Given the description of an element on the screen output the (x, y) to click on. 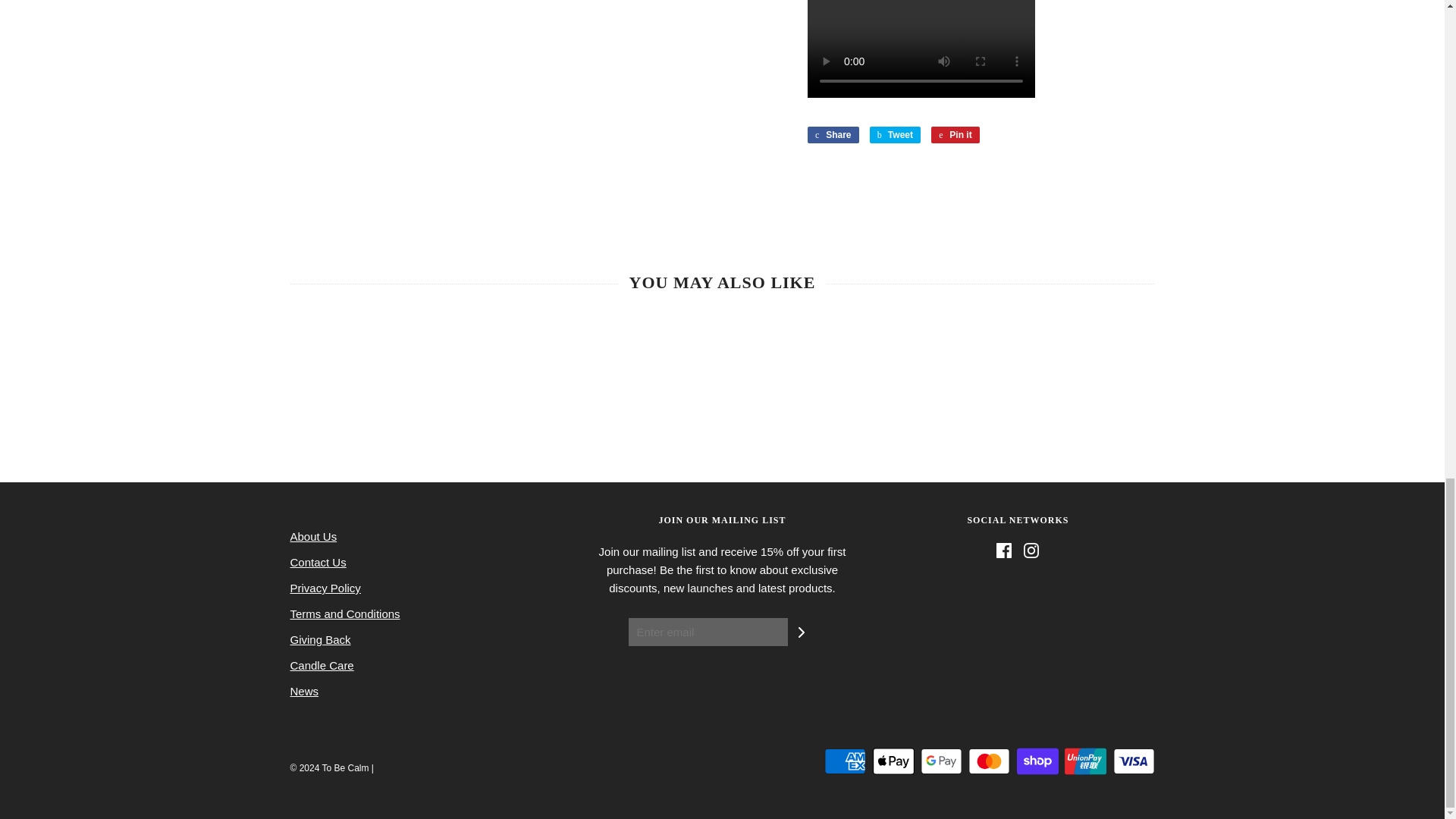
Union Pay (1085, 761)
Facebook icon (1003, 549)
Shop Pay (1037, 761)
Instagram icon (1031, 549)
Google Pay (941, 761)
Mastercard (989, 761)
Visa (1133, 761)
Apple Pay (893, 761)
American Express (845, 761)
